Given the description of an element on the screen output the (x, y) to click on. 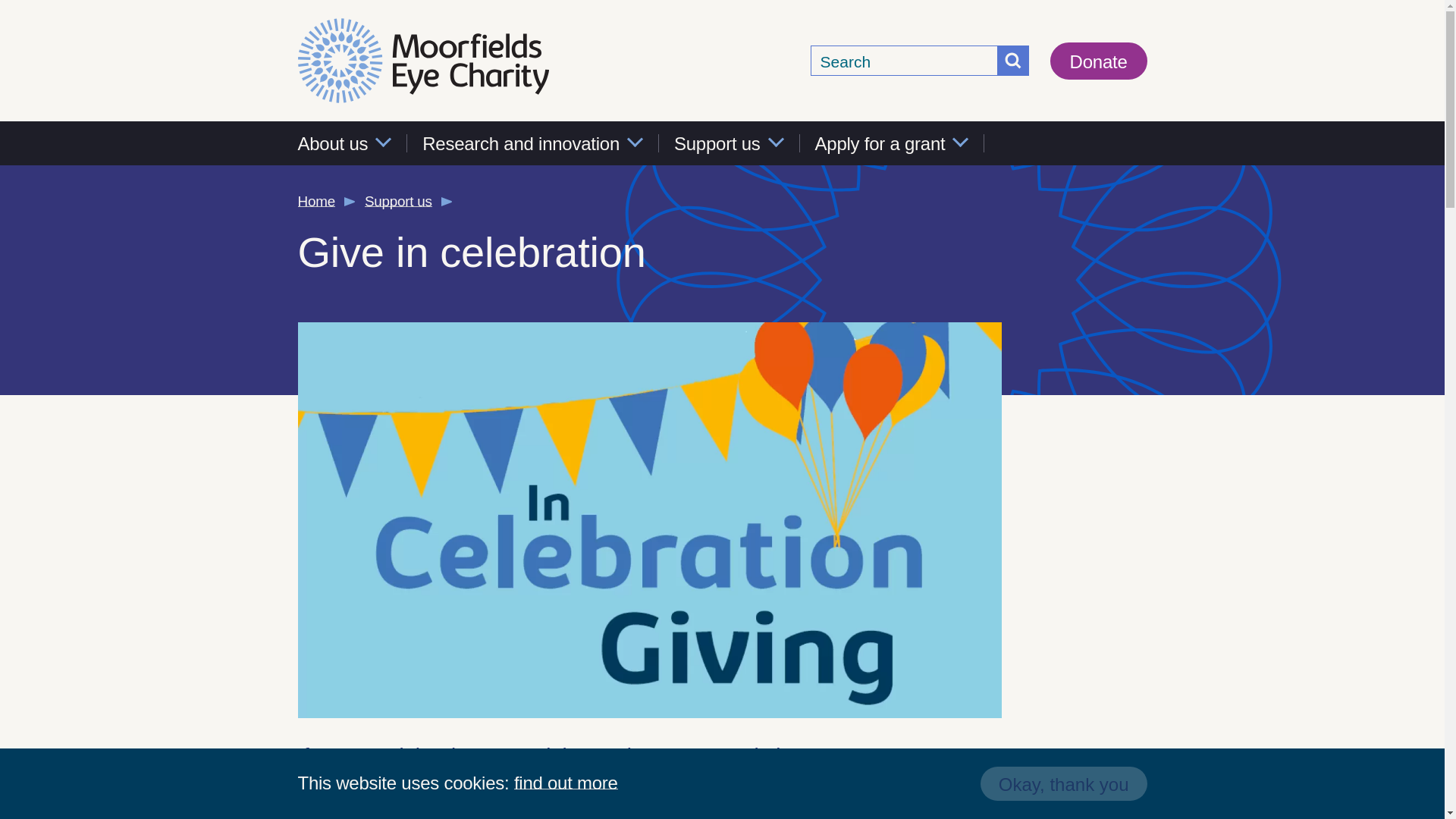
Go (1013, 60)
Donate (1098, 60)
Go (1013, 60)
Go (1013, 60)
